Given the description of an element on the screen output the (x, y) to click on. 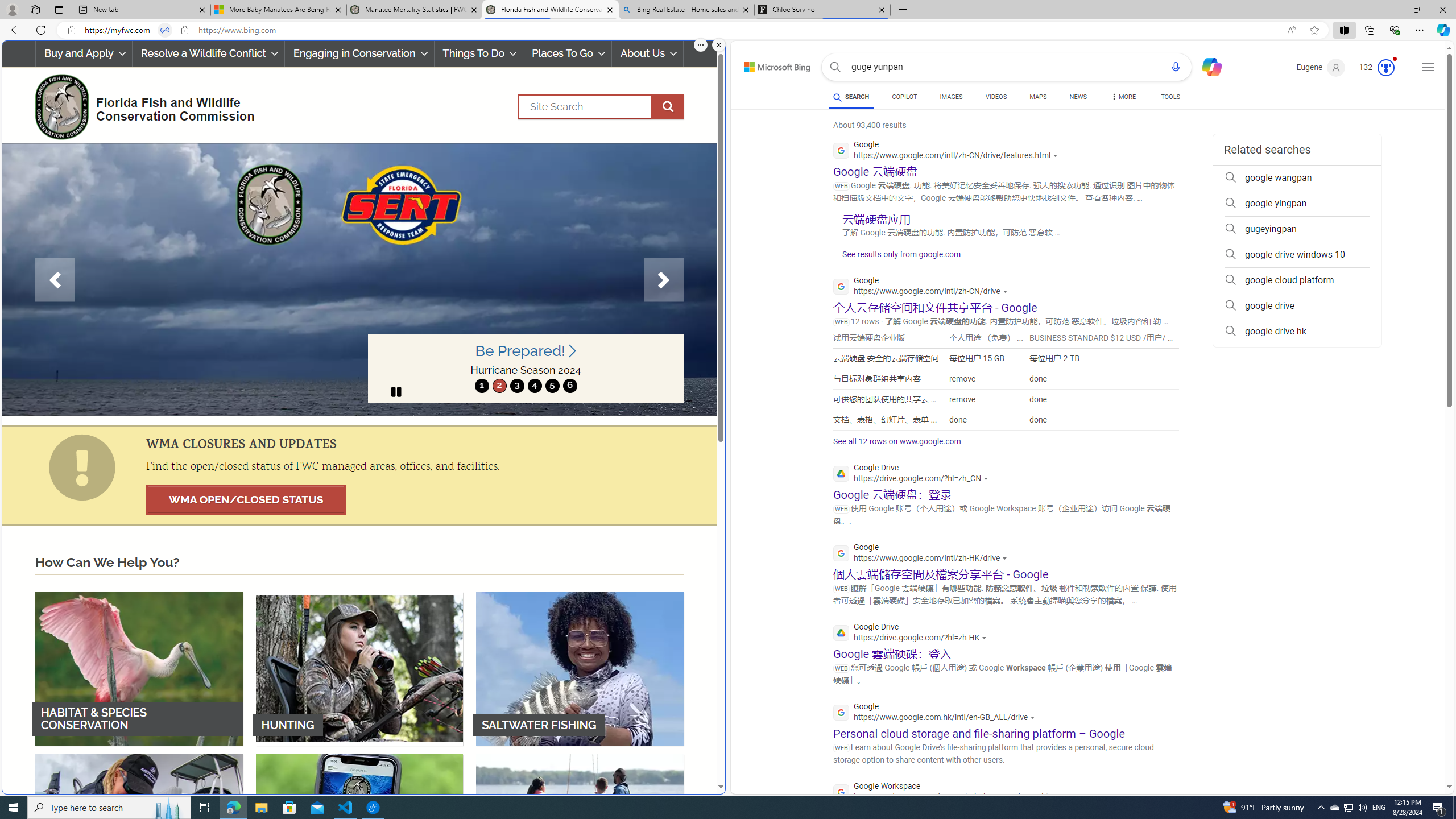
move to slide 6 (569, 385)
FWC Logo Florida Fish and Wildlife Conservation Commission (139, 104)
View site information (184, 29)
6 (569, 385)
TOOLS (1171, 96)
NEWS (1078, 96)
Eugene (1320, 67)
Class: medal-svg-animation (1385, 67)
SEARCH (850, 96)
